Given the description of an element on the screen output the (x, y) to click on. 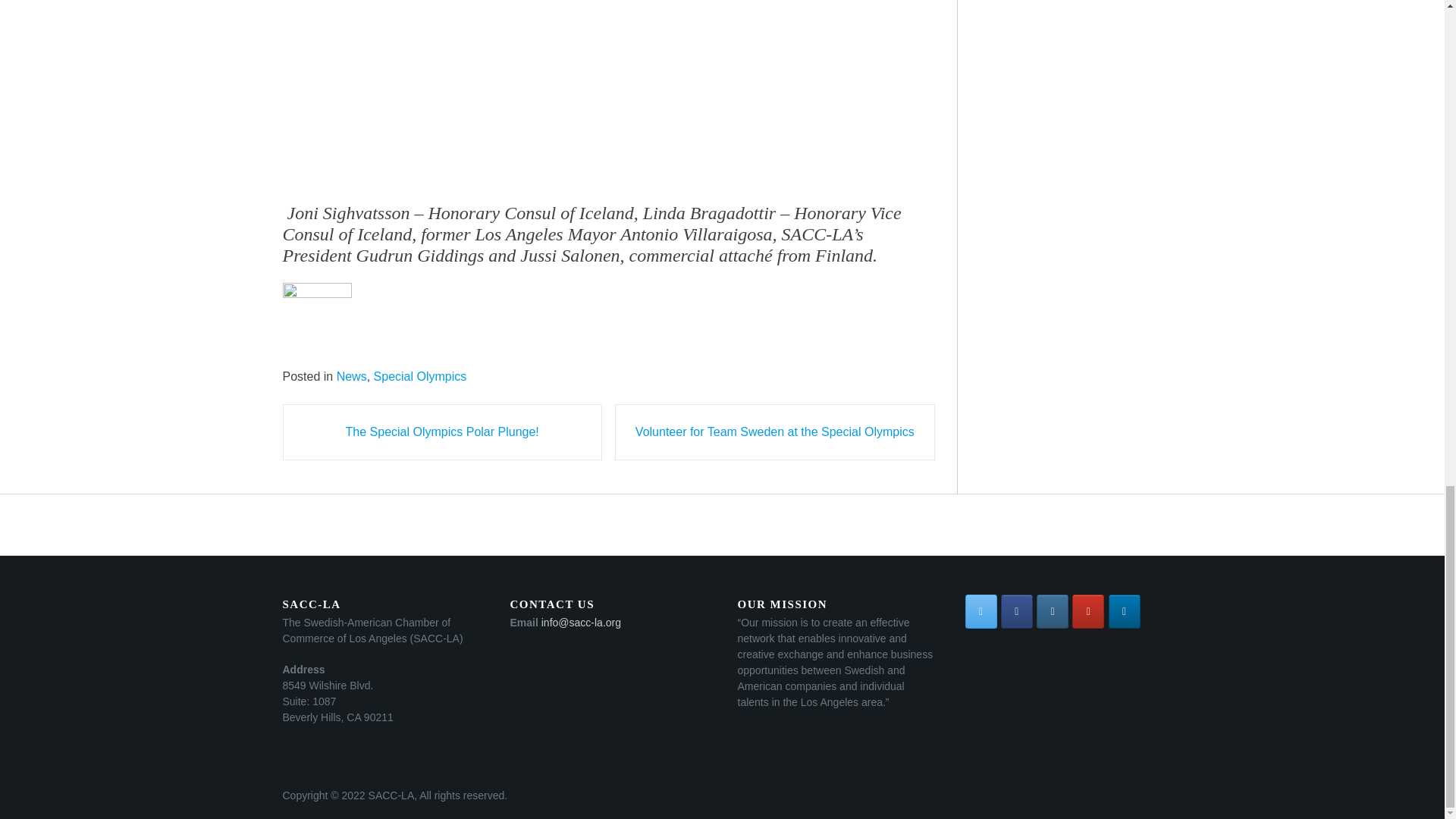
SACC-LA on X Twitter (979, 611)
SACC-LA on Facebook (1016, 611)
SACC-LA on Linkedin (1124, 611)
SACC-LA on Youtube (1087, 611)
SACC-LA on Instagram (1052, 611)
